Given the description of an element on the screen output the (x, y) to click on. 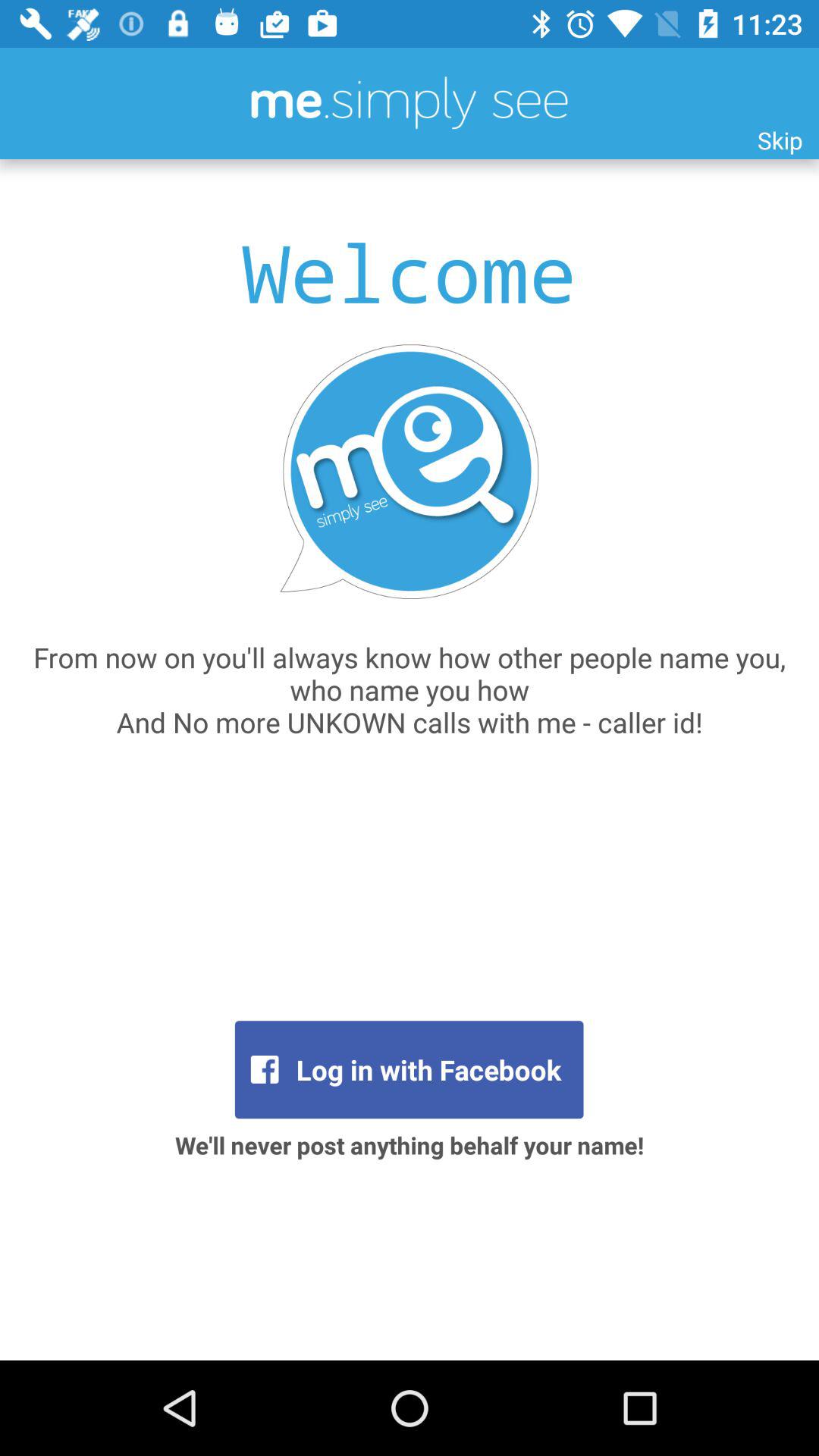
choose log in with icon (408, 1069)
